Given the description of an element on the screen output the (x, y) to click on. 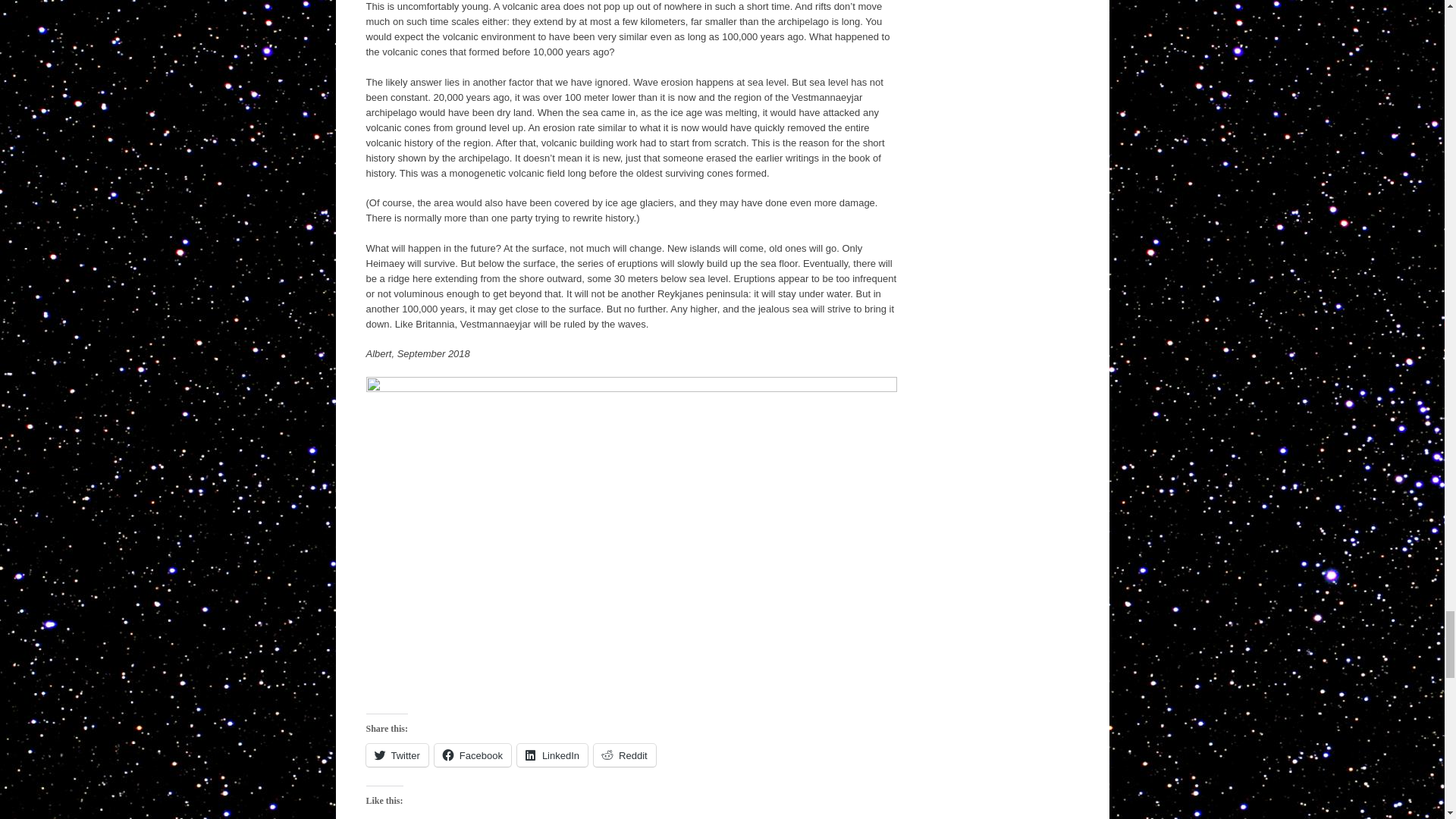
Click to share on Twitter (396, 754)
Click to share on Facebook (472, 754)
Click to share on LinkedIn (552, 754)
Click to share on Reddit (625, 754)
